Given the description of an element on the screen output the (x, y) to click on. 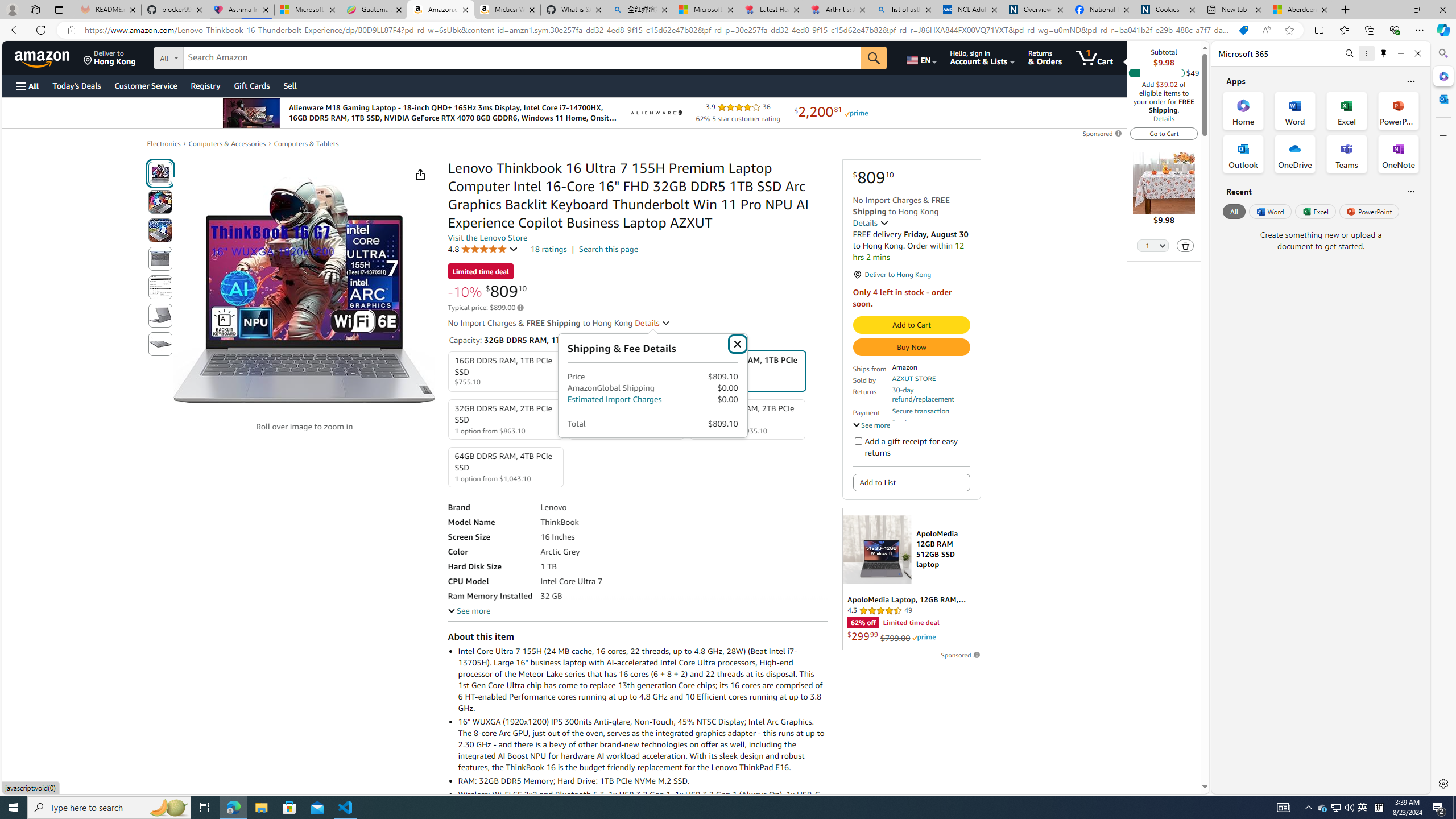
Deliver to Hong Kong (109, 57)
Buy Now (911, 347)
Word Office App (1295, 110)
Outlook Office App (1243, 154)
All (1233, 210)
Estimated Import Charges (614, 398)
